Given the description of an element on the screen output the (x, y) to click on. 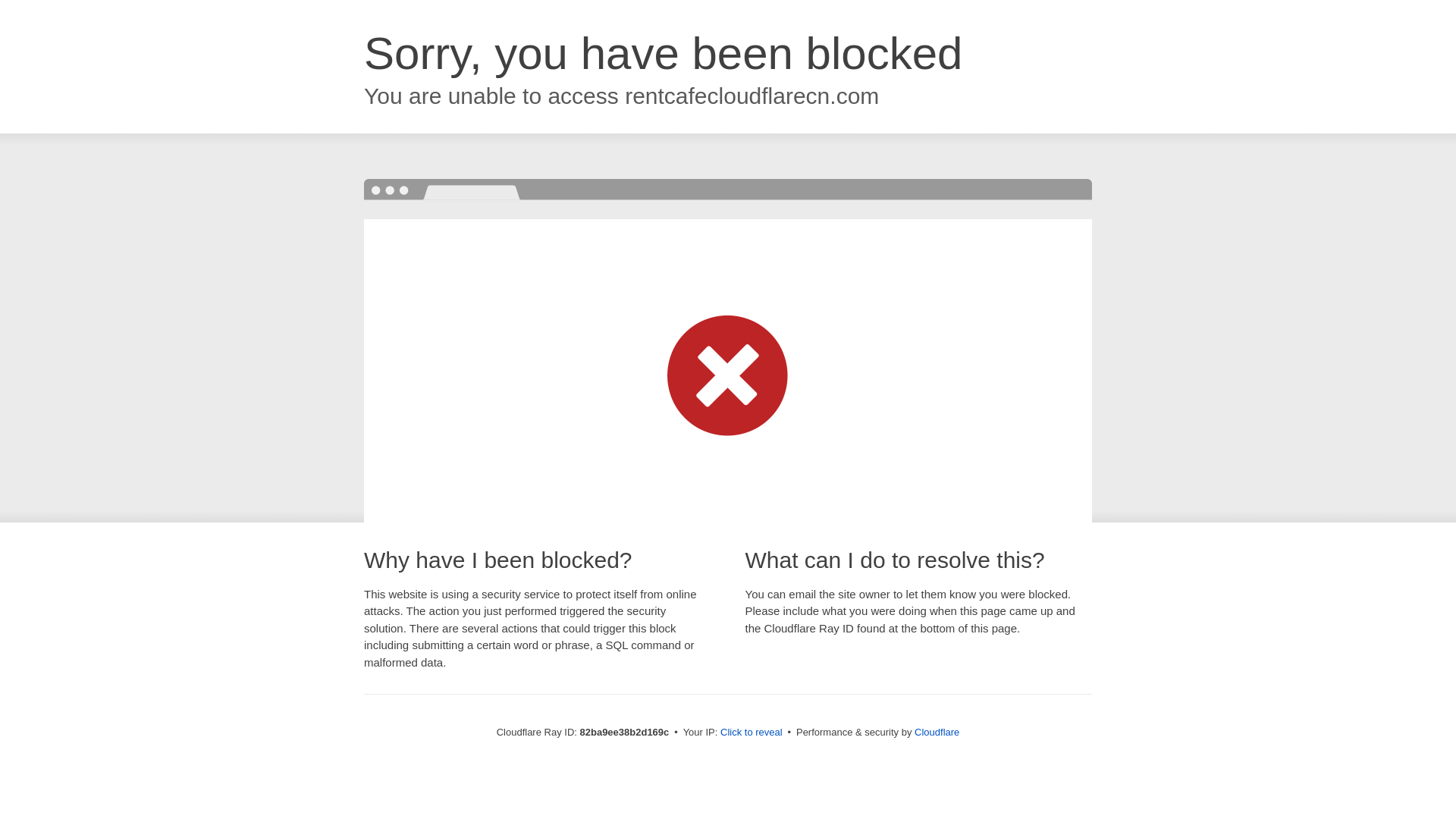
Click to reveal Element type: text (751, 732)
Cloudflare Element type: text (936, 731)
